Given the description of an element on the screen output the (x, y) to click on. 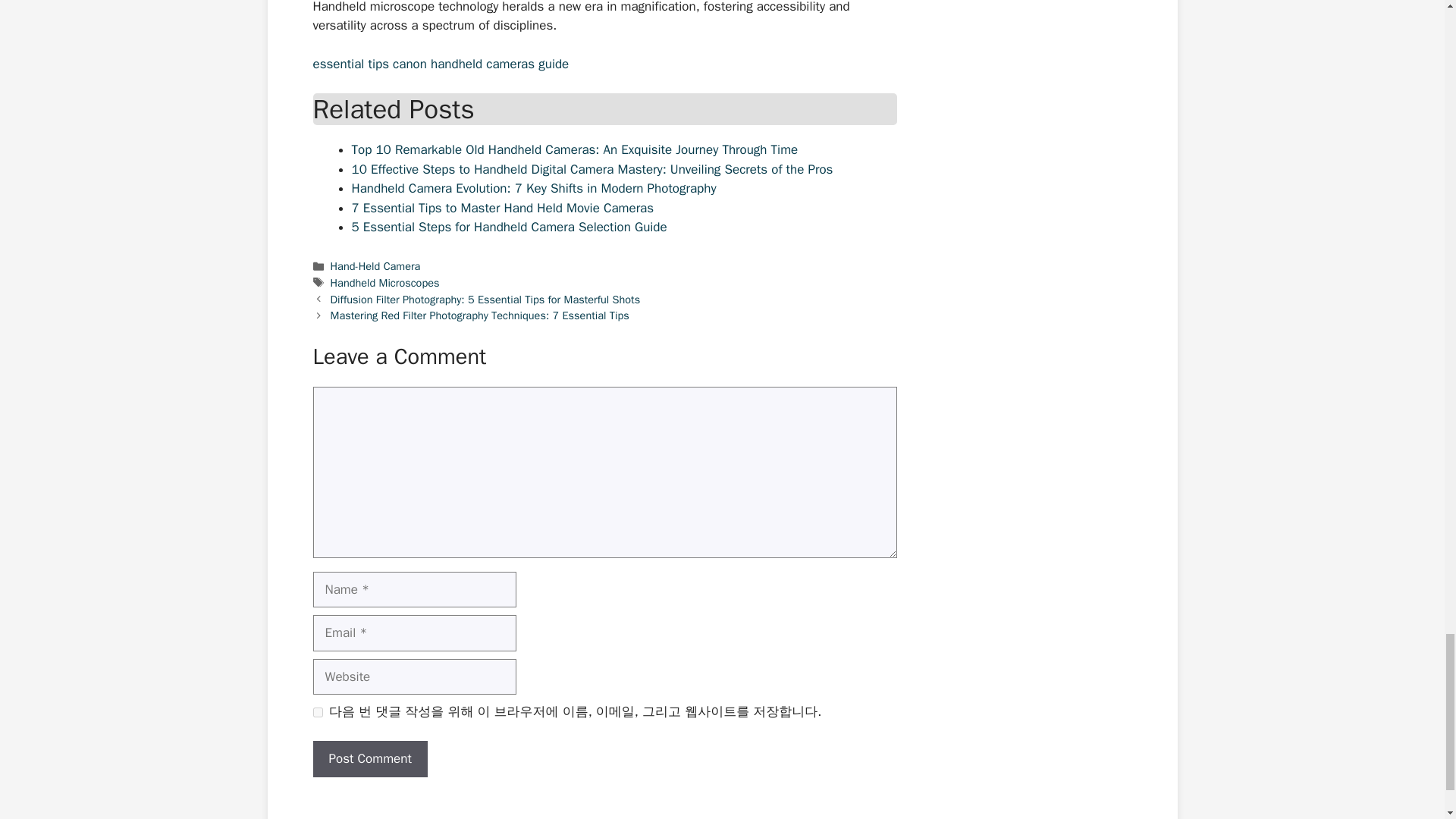
Post Comment (369, 759)
yes (317, 712)
essential tips canon handheld cameras guide (441, 64)
7 Essential Tips to Master Hand Held Movie Cameras (502, 207)
